Given the description of an element on the screen output the (x, y) to click on. 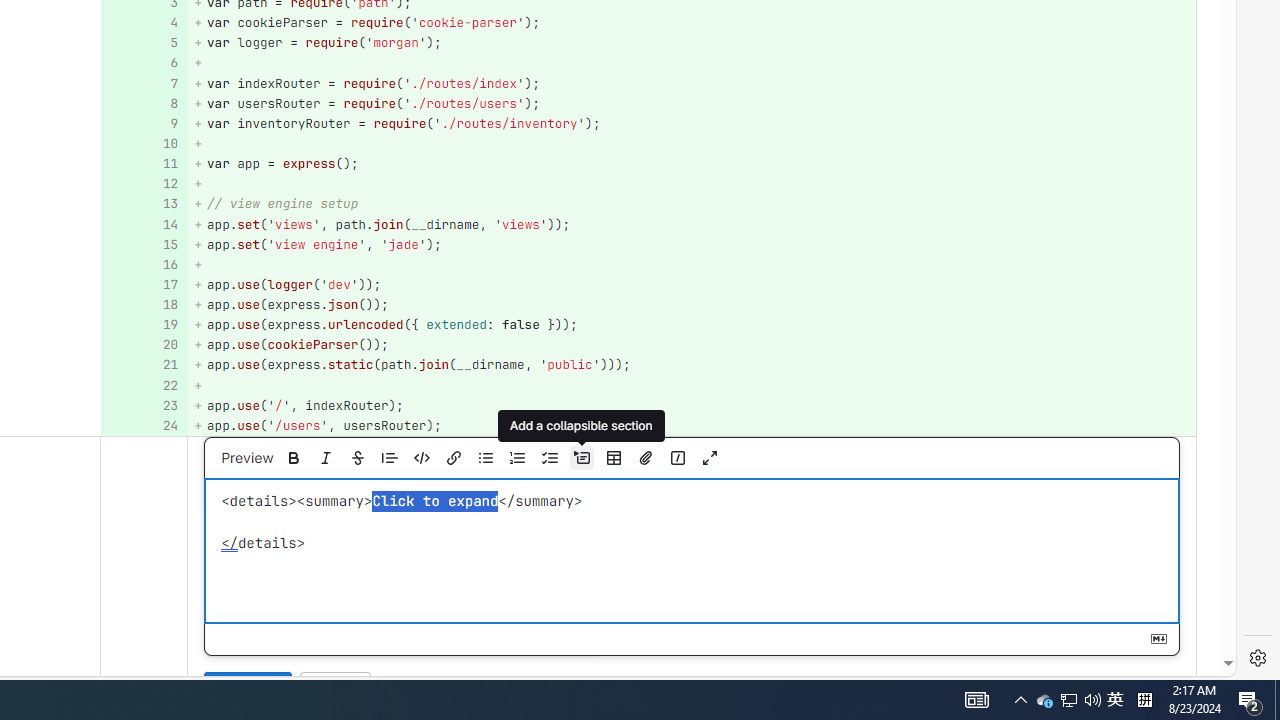
Add a bullet list (485, 457)
Add a comment to this line 4 (144, 22)
22 (141, 385)
Add a comment to this line 24 (144, 425)
4 (141, 22)
Add a table (613, 457)
Add a comment to this line 13 (144, 204)
Add a comment to this line 12 (144, 184)
Comment (248, 687)
14 (141, 223)
Add a comment to this line 22 (144, 385)
6 (141, 63)
+ // view engine setup  (691, 204)
Add a comment to this line 11 (144, 164)
